Given the description of an element on the screen output the (x, y) to click on. 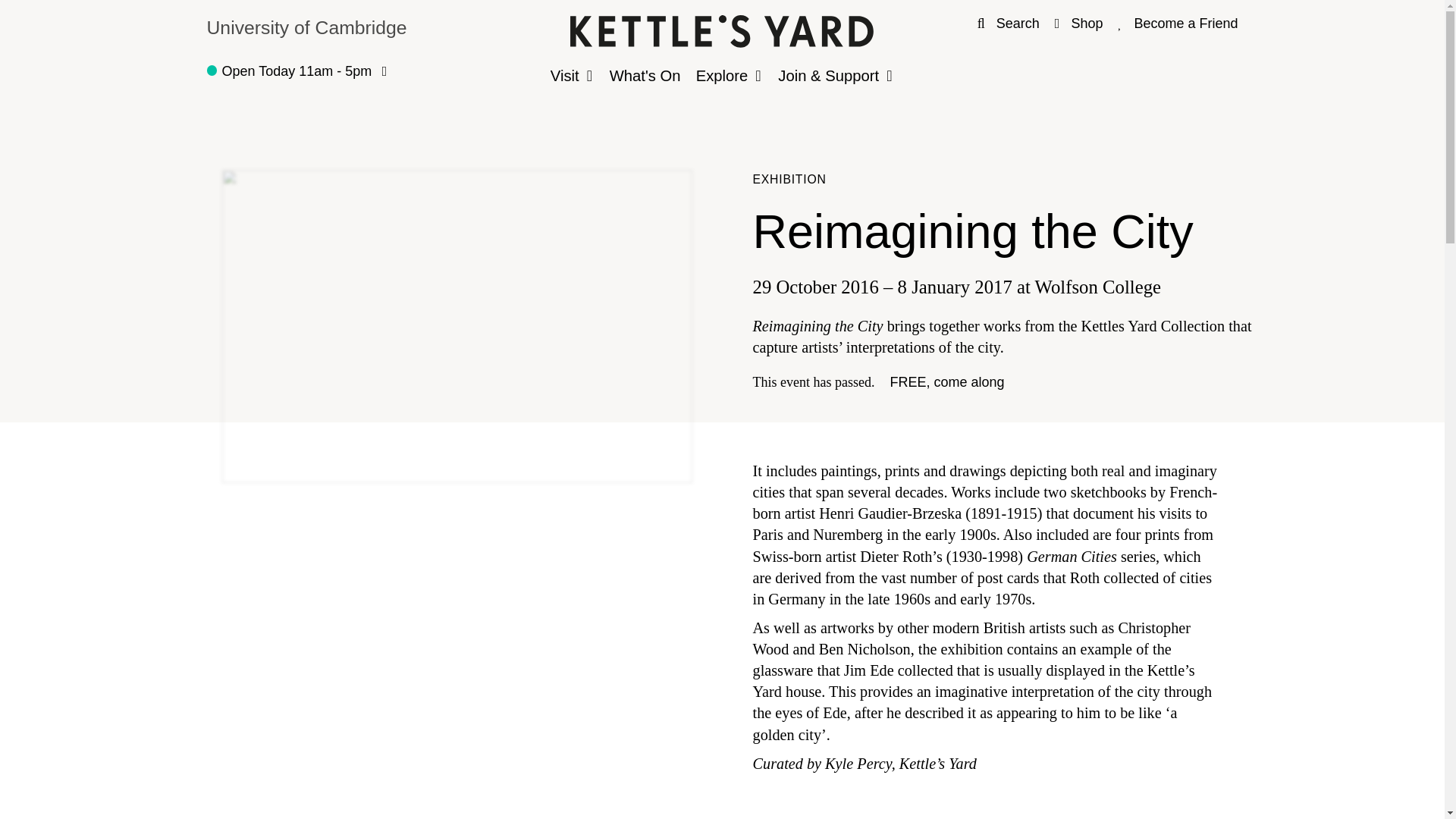
Open Today 11am - 5pm (296, 70)
Search (1007, 23)
Kettles Yard Logo (722, 34)
Become a Friend (721, 31)
Shop (1177, 23)
University of Cambridge (1078, 23)
Kettle's Yard - Home (721, 75)
What's On (378, 30)
